Given the description of an element on the screen output the (x, y) to click on. 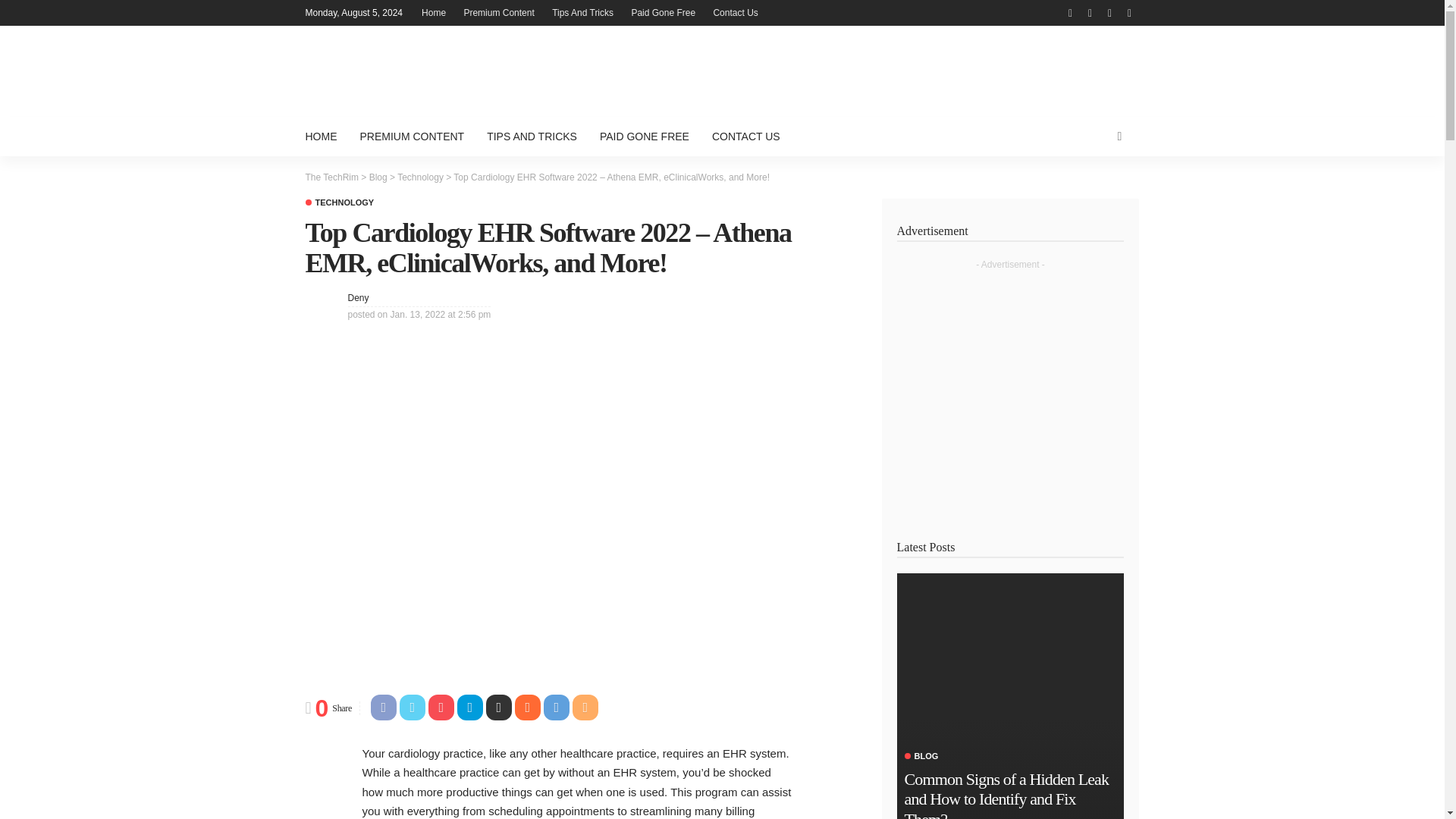
The TechRim (331, 176)
HOME (325, 136)
Premium Content (498, 12)
TECHNOLOGY (339, 203)
PAID GONE FREE (644, 136)
Home (432, 12)
search (1118, 136)
TIPS AND TRICKS (532, 136)
Technology (339, 203)
Blog (378, 176)
Deny (357, 297)
Tips And Tricks (582, 12)
CONTACT US (746, 136)
Go to The TechRim. (331, 176)
Go to the Technology Category archives. (420, 176)
